Given the description of an element on the screen output the (x, y) to click on. 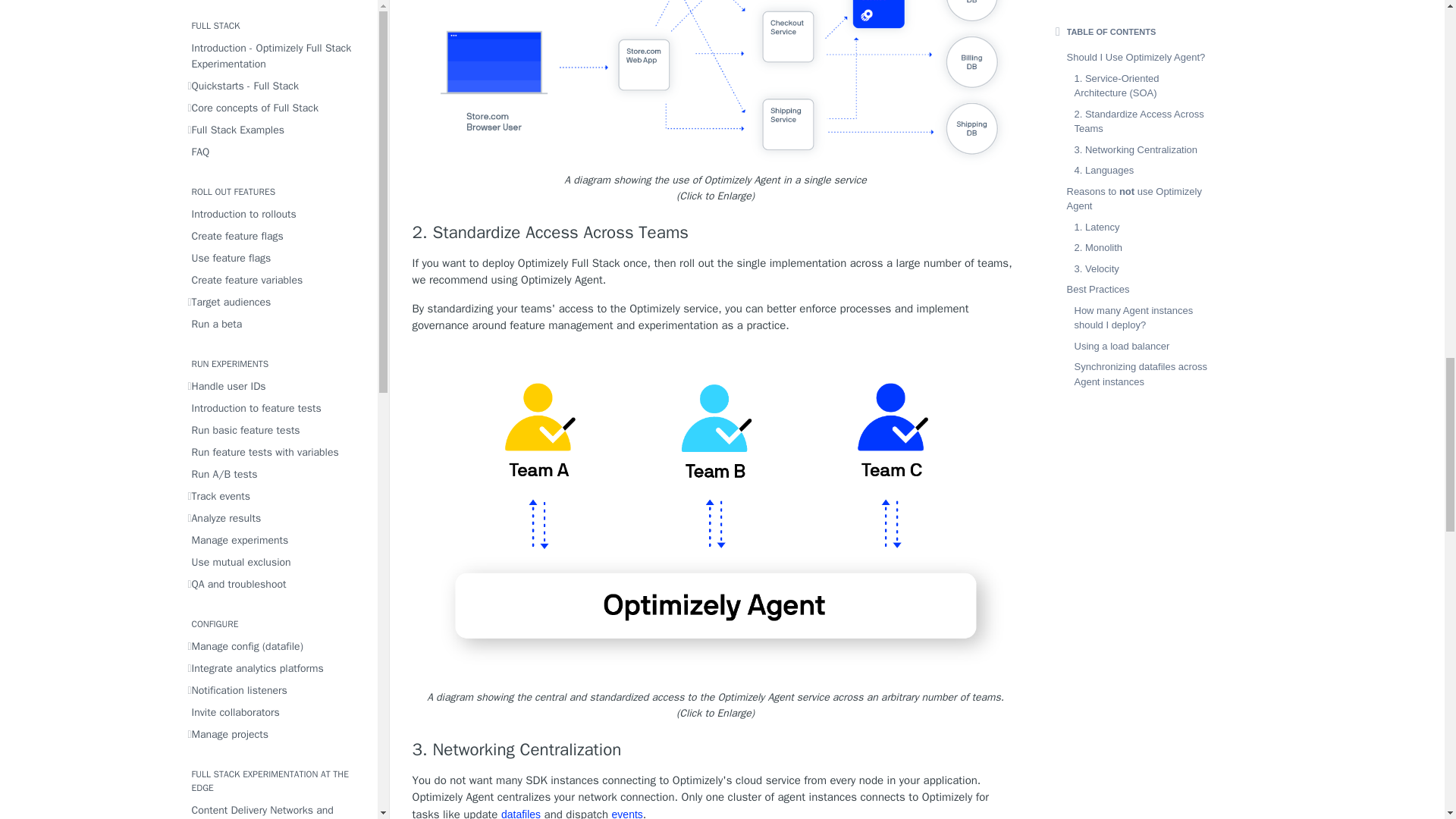
2. Standardize Access Across Teams (715, 232)
3. Networking Centralization (715, 749)
agent-single-service.png (715, 83)
